Given the description of an element on the screen output the (x, y) to click on. 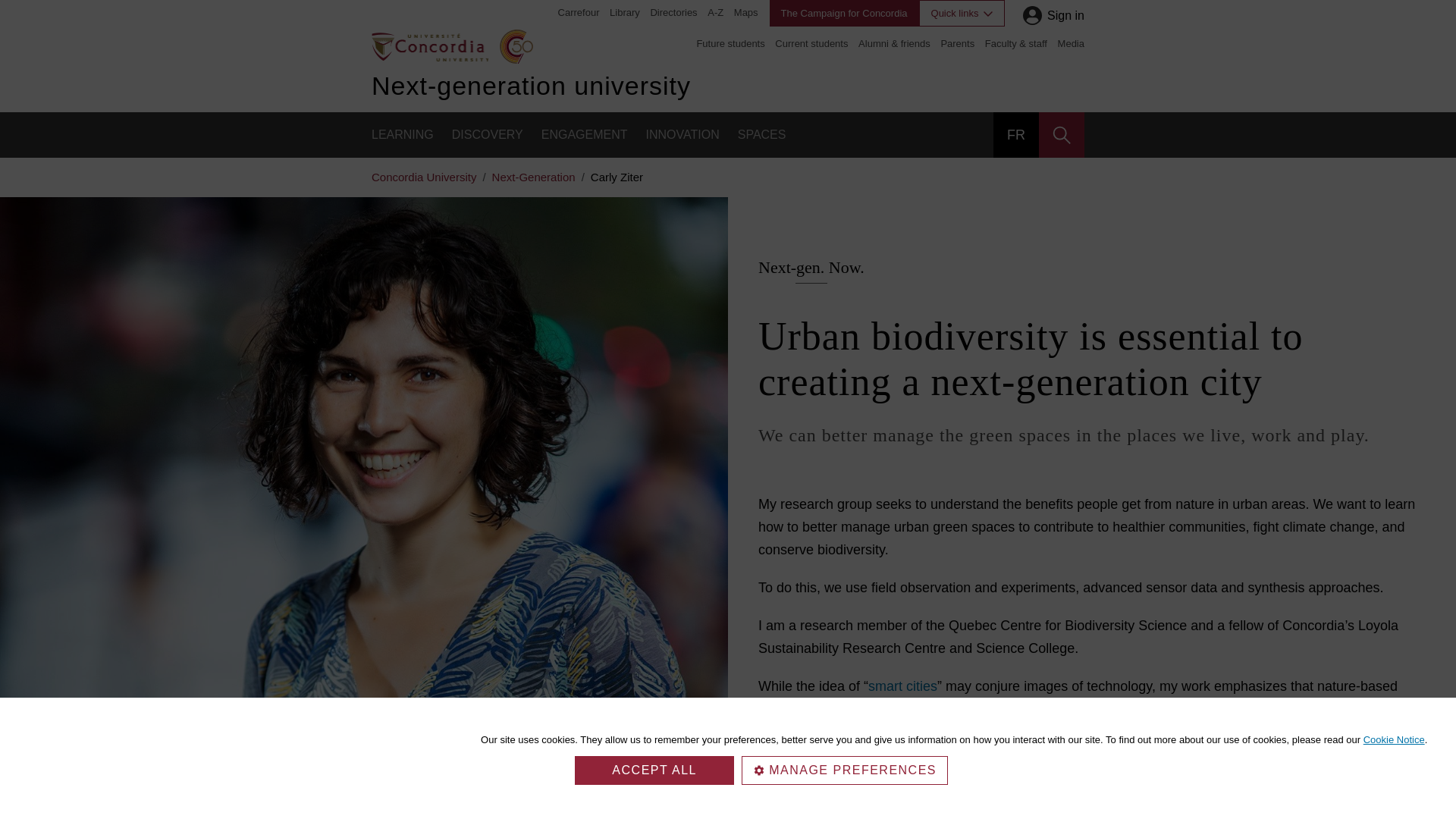
Carrefour (578, 12)
MANAGE PREFERENCES (844, 769)
Library (625, 12)
ACCEPT ALL (654, 769)
Back to home (429, 45)
Cookie Notice (1393, 739)
